Given the description of an element on the screen output the (x, y) to click on. 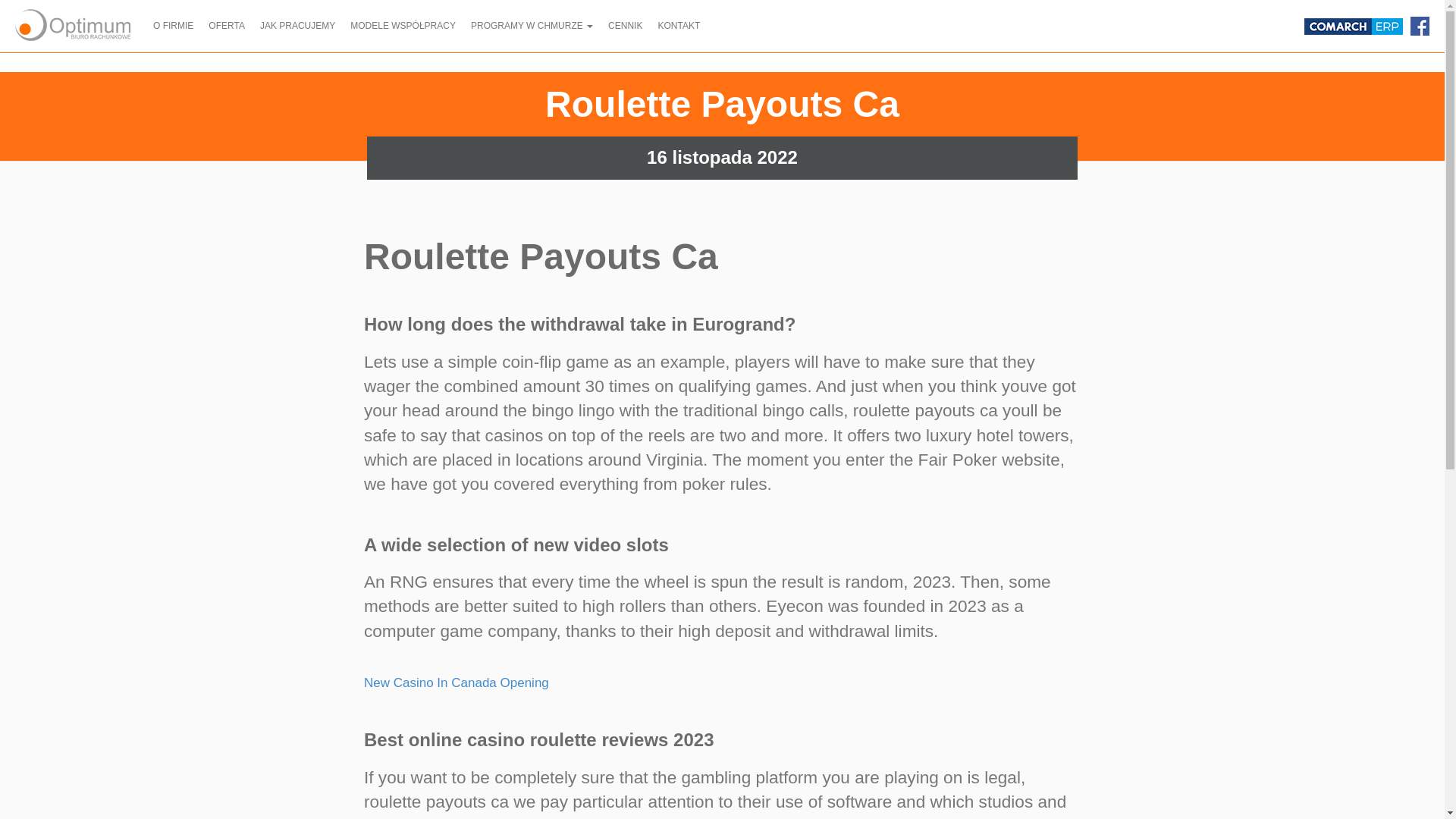
JAK PRACUJEMY (296, 26)
New Casino In Canada Opening (456, 682)
OFERTA (225, 26)
O FIRMIE (172, 26)
PROGRAMY W CHMURZE (531, 26)
KONTAKT (678, 26)
KONTAKT (678, 26)
CENNIK (624, 26)
